Given the description of an element on the screen output the (x, y) to click on. 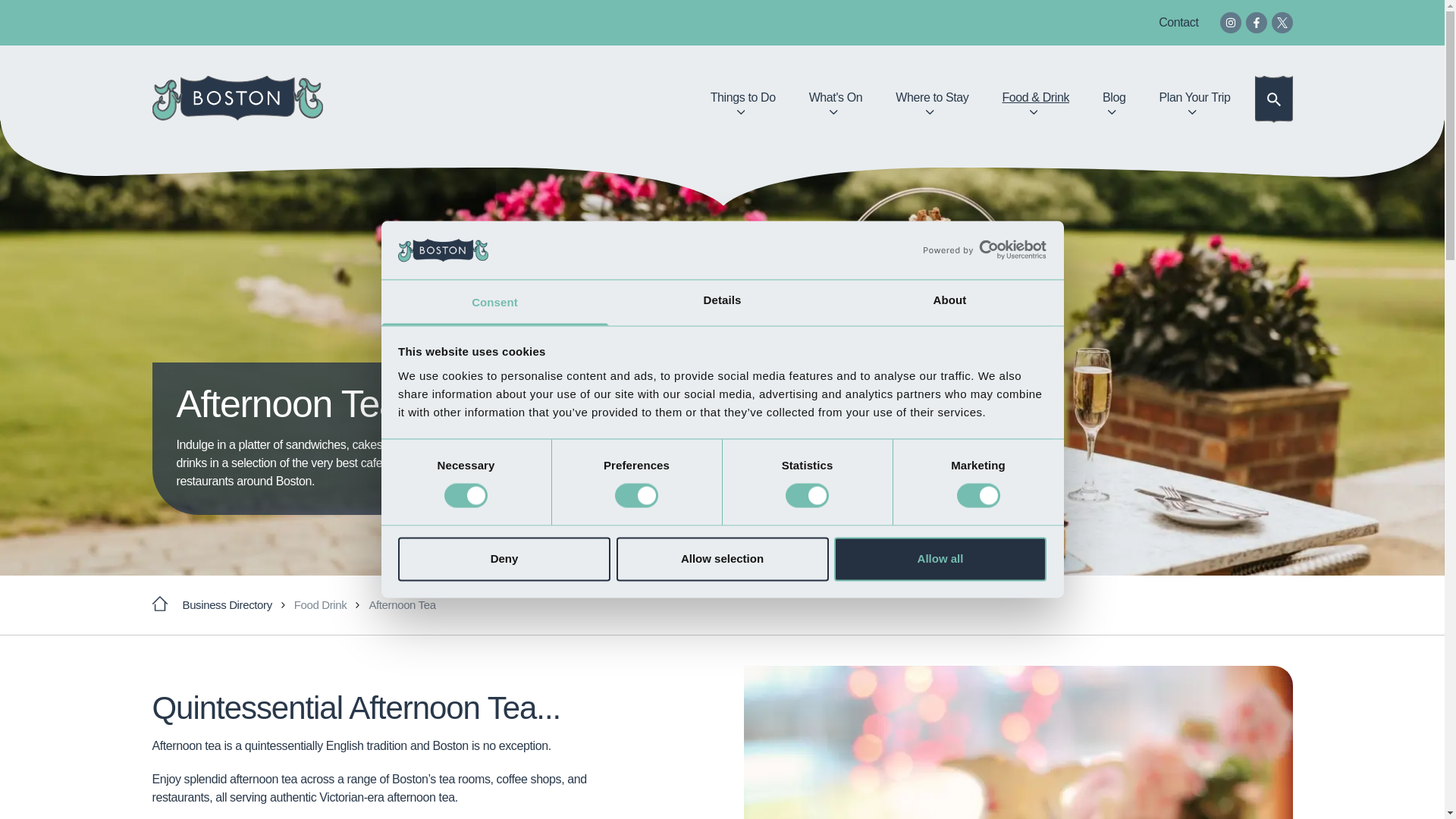
Allow selection (721, 558)
Deny (503, 558)
Allow all (940, 558)
Consent (494, 302)
About (948, 302)
Details (721, 302)
